Given the description of an element on the screen output the (x, y) to click on. 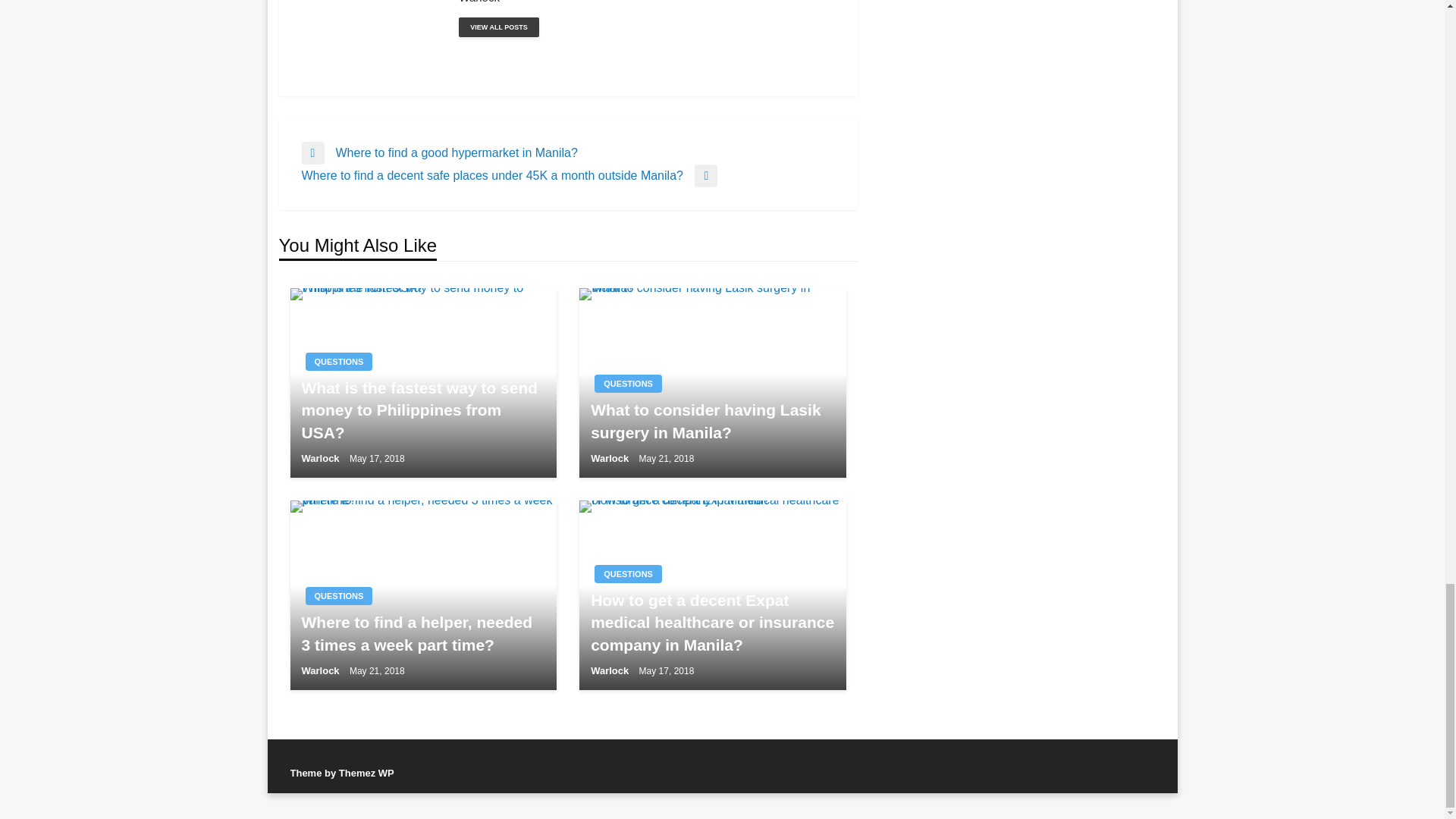
Warlock (646, 2)
QUESTIONS (628, 383)
QUESTIONS (338, 596)
Warlock (498, 26)
Warlock (646, 2)
QUESTIONS (338, 361)
